Given the description of an element on the screen output the (x, y) to click on. 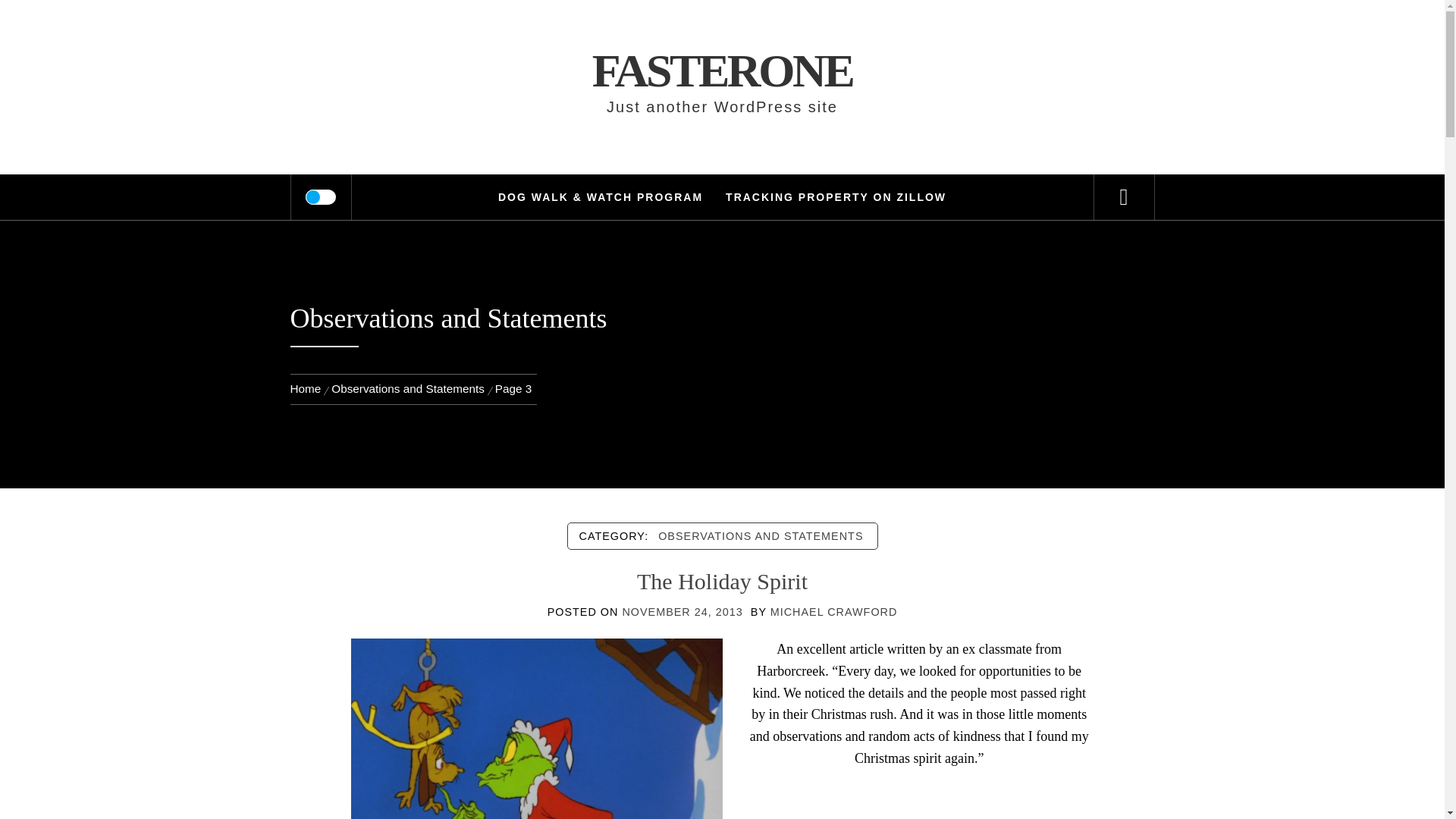
Observations and Statements (407, 388)
The Holiday Spirit (722, 580)
Search (797, 33)
Home (307, 388)
NOVEMBER 24, 2013 (681, 612)
MICHAEL CRAWFORD (834, 612)
OBSERVATIONS AND STATEMENTS (760, 535)
The Holiday Spirit (536, 776)
FASTERONE (722, 70)
TRACKING PROPERTY ON ZILLOW (836, 197)
